Given the description of an element on the screen output the (x, y) to click on. 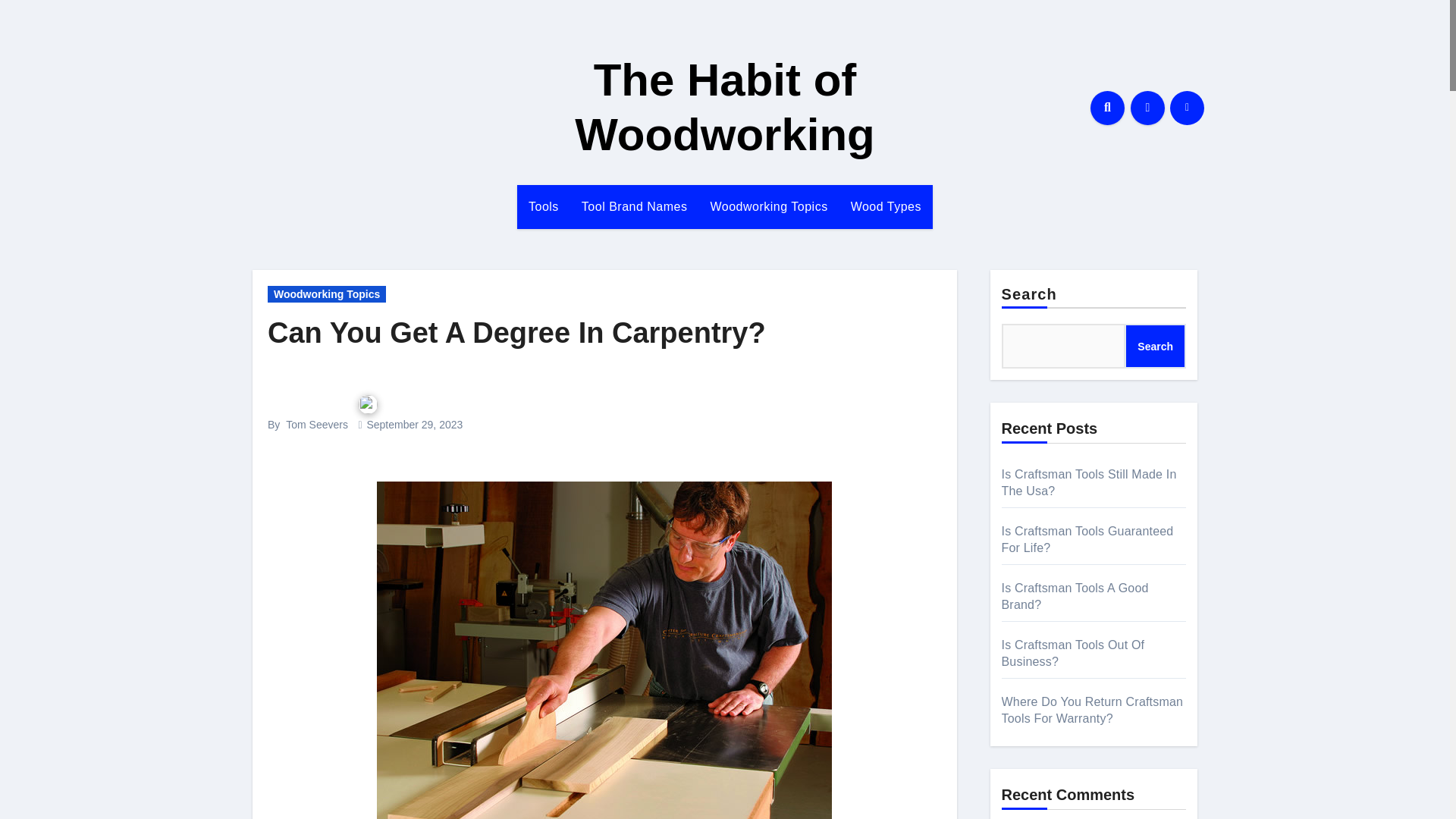
Woodworking Topics (768, 207)
Can You Get A Degree In Carpentry? (516, 332)
Tools (543, 207)
Tool Brand Names (634, 207)
The Habit of Woodworking (725, 106)
Tool Brand Names (634, 207)
Wood Types (886, 207)
Tools (543, 207)
Woodworking Topics (326, 293)
Wood Types (886, 207)
